Given the description of an element on the screen output the (x, y) to click on. 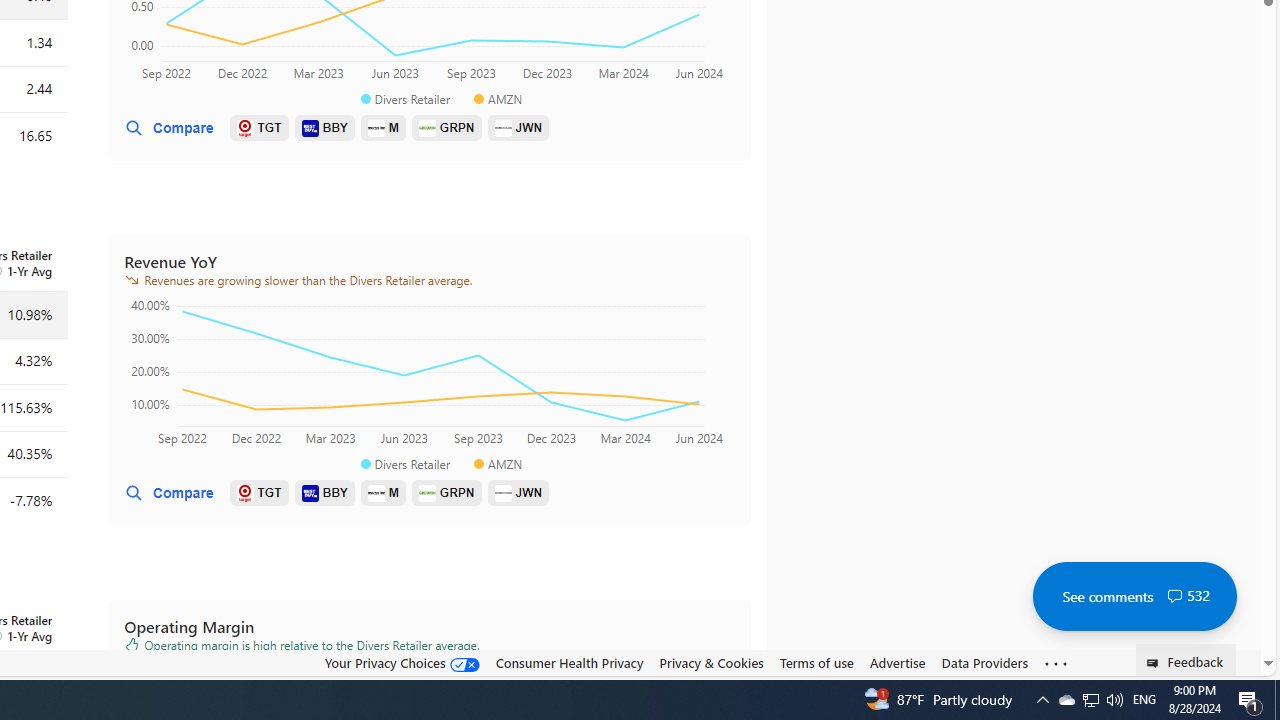
Class: imagIcon-DS-EntryPoint1-1 (503, 492)
Your Privacy Choices (401, 662)
JWN (518, 493)
Privacy & Cookies (711, 663)
Terms of use (816, 662)
Consumer Health Privacy (569, 663)
Privacy & Cookies (711, 662)
Consumer Health Privacy (569, 662)
Data Providers (983, 663)
Feedback (1186, 659)
Data Providers (983, 662)
See more (1055, 664)
BBY (324, 493)
Class: oneFooter_seeMore-DS-EntryPoint1-1 (1055, 663)
